Given the description of an element on the screen output the (x, y) to click on. 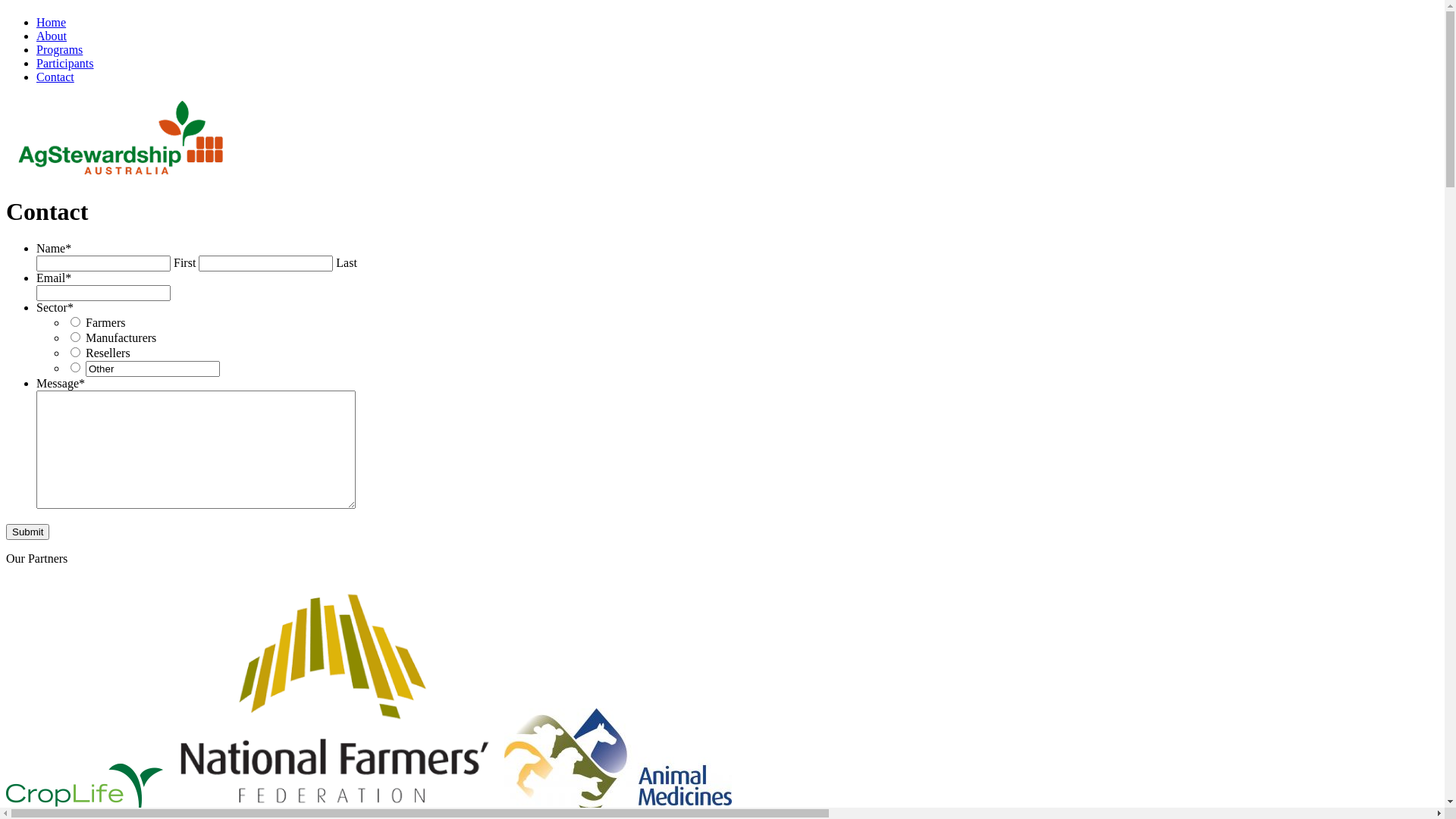
Programs Element type: text (59, 49)
Participants Element type: text (65, 62)
Home Element type: text (50, 21)
Contact Element type: text (55, 76)
Submit Element type: text (27, 531)
About Element type: text (51, 35)
